Given the description of an element on the screen output the (x, y) to click on. 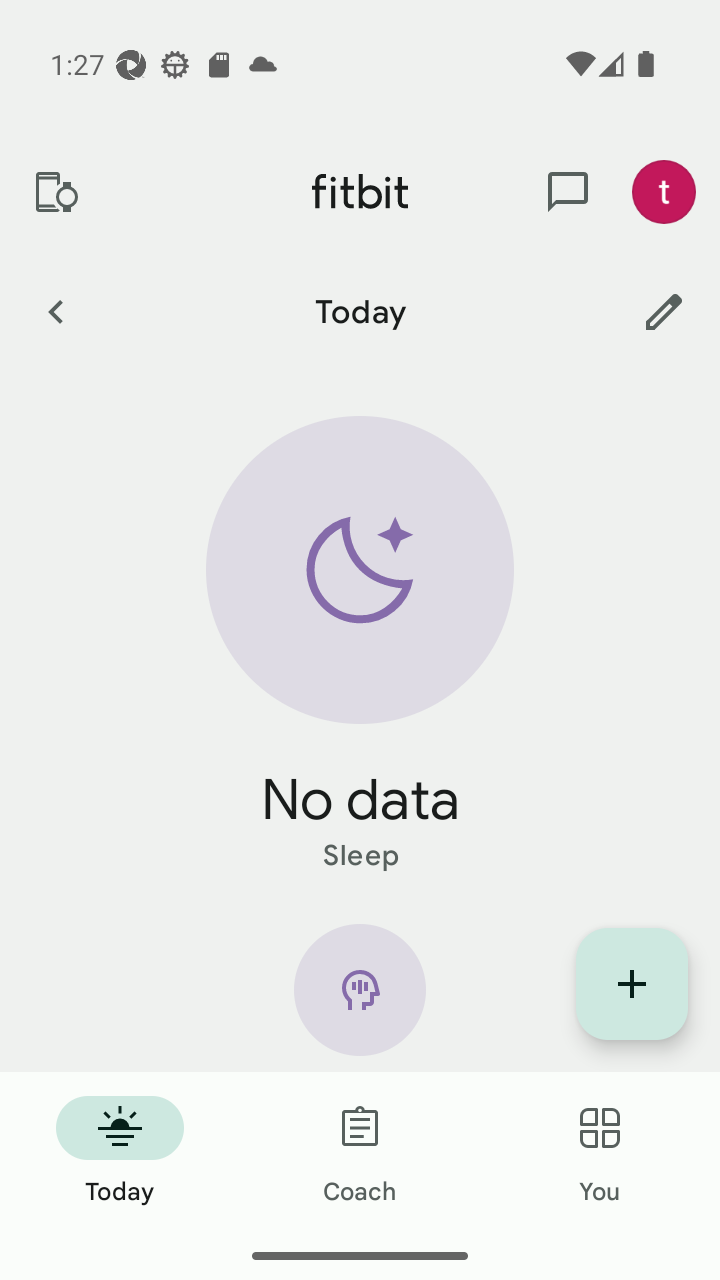
Devices and apps (55, 191)
messages and notifications (567, 191)
Previous Day (55, 311)
Customize (664, 311)
Sleep static hero arc No data Sleep (359, 645)
Mindfulness icon (360, 998)
Display list of quick log entries (632, 983)
Coach (359, 1151)
You (600, 1151)
